Given the description of an element on the screen output the (x, y) to click on. 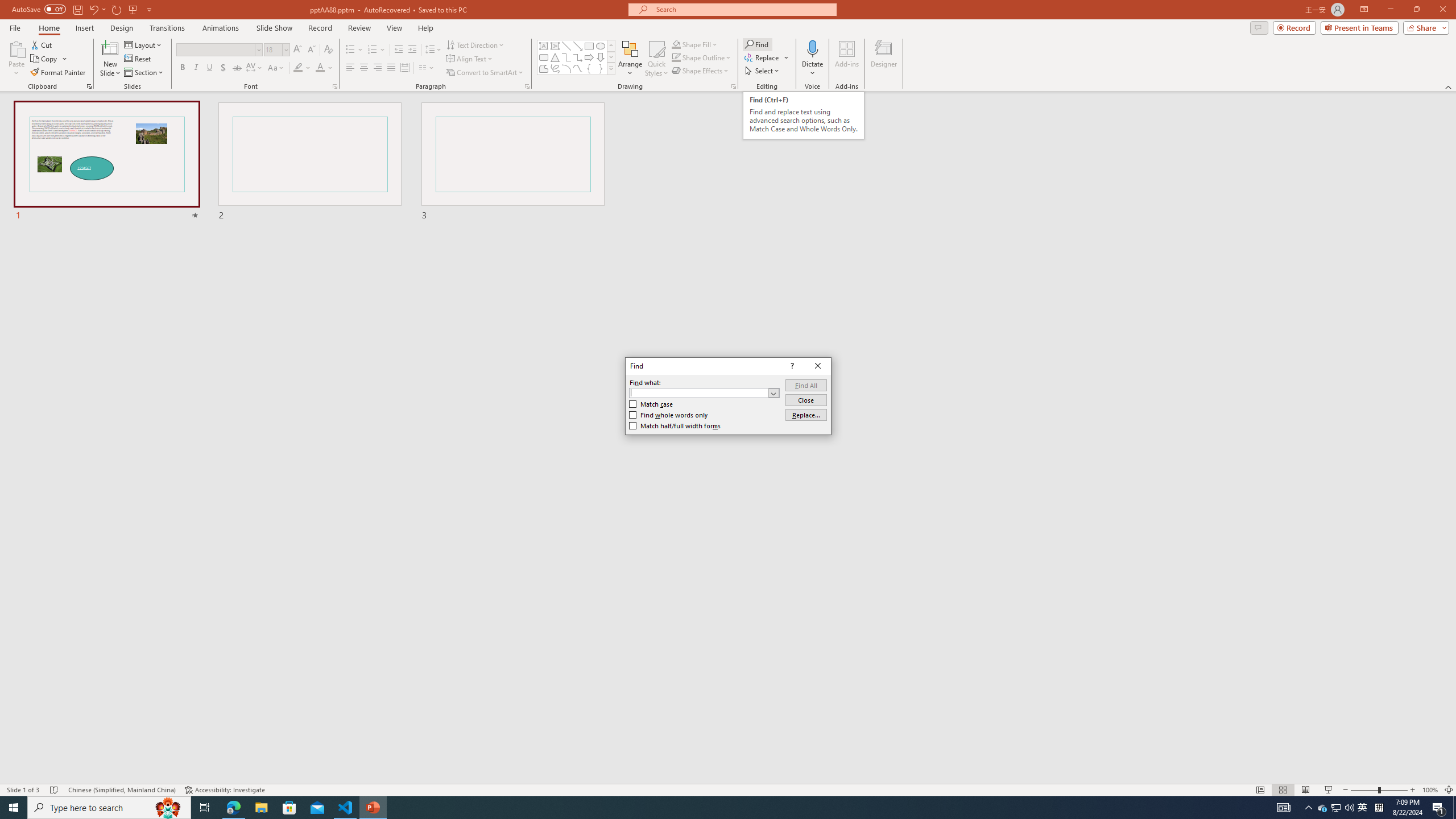
Shape Fill Aqua, Accent 2 (675, 44)
